Given the description of an element on the screen output the (x, y) to click on. 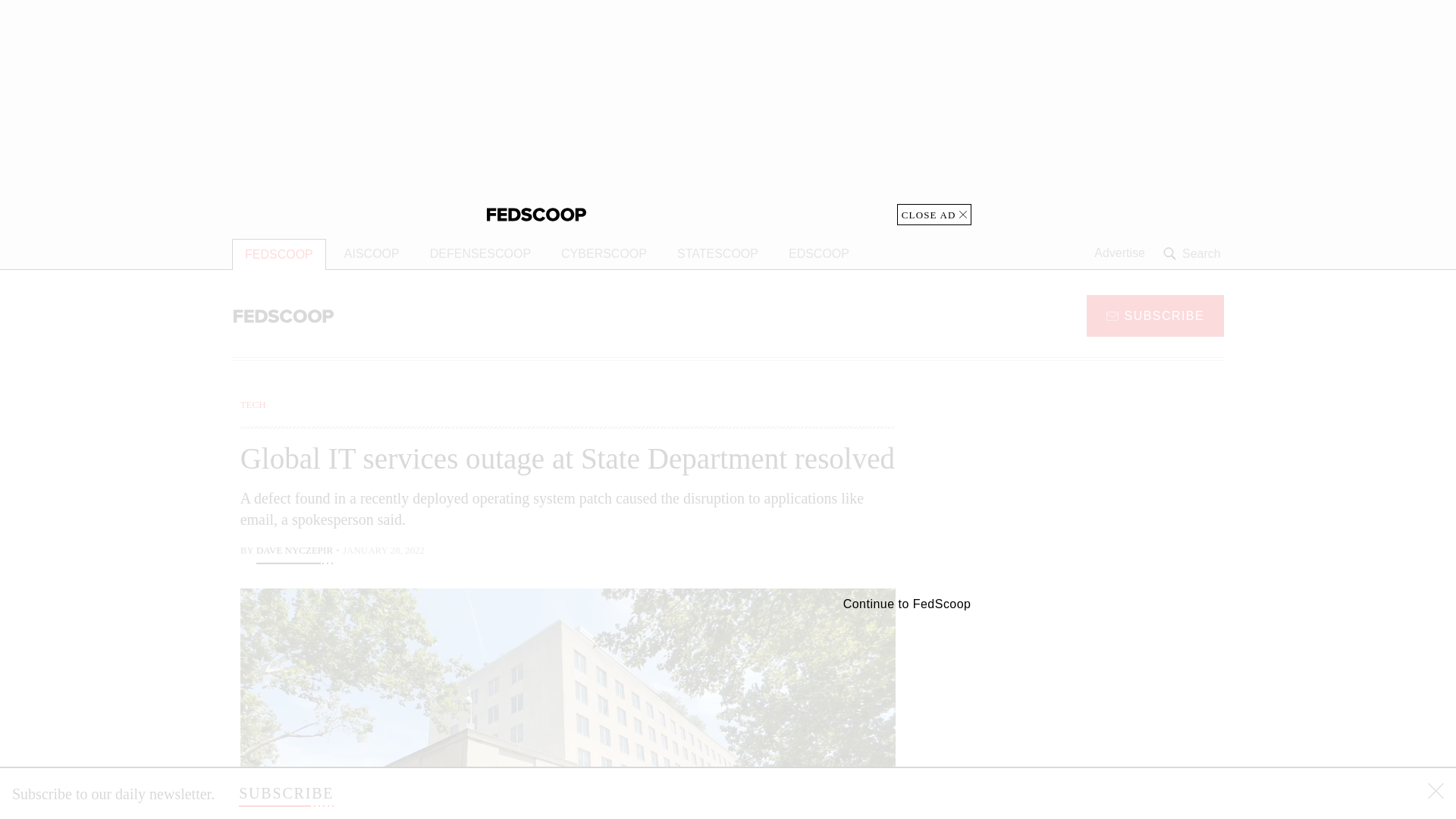
STATESCOOP (717, 254)
DEFENSESCOOP (480, 254)
3rd party ad content (1101, 706)
Search (1193, 253)
SUBSCRIBE (1155, 315)
Dave Nyczepir (294, 551)
TECH (253, 404)
FEDSCOOP (278, 254)
AISCOOP (371, 254)
SUBSCRIBE (285, 793)
